Given the description of an element on the screen output the (x, y) to click on. 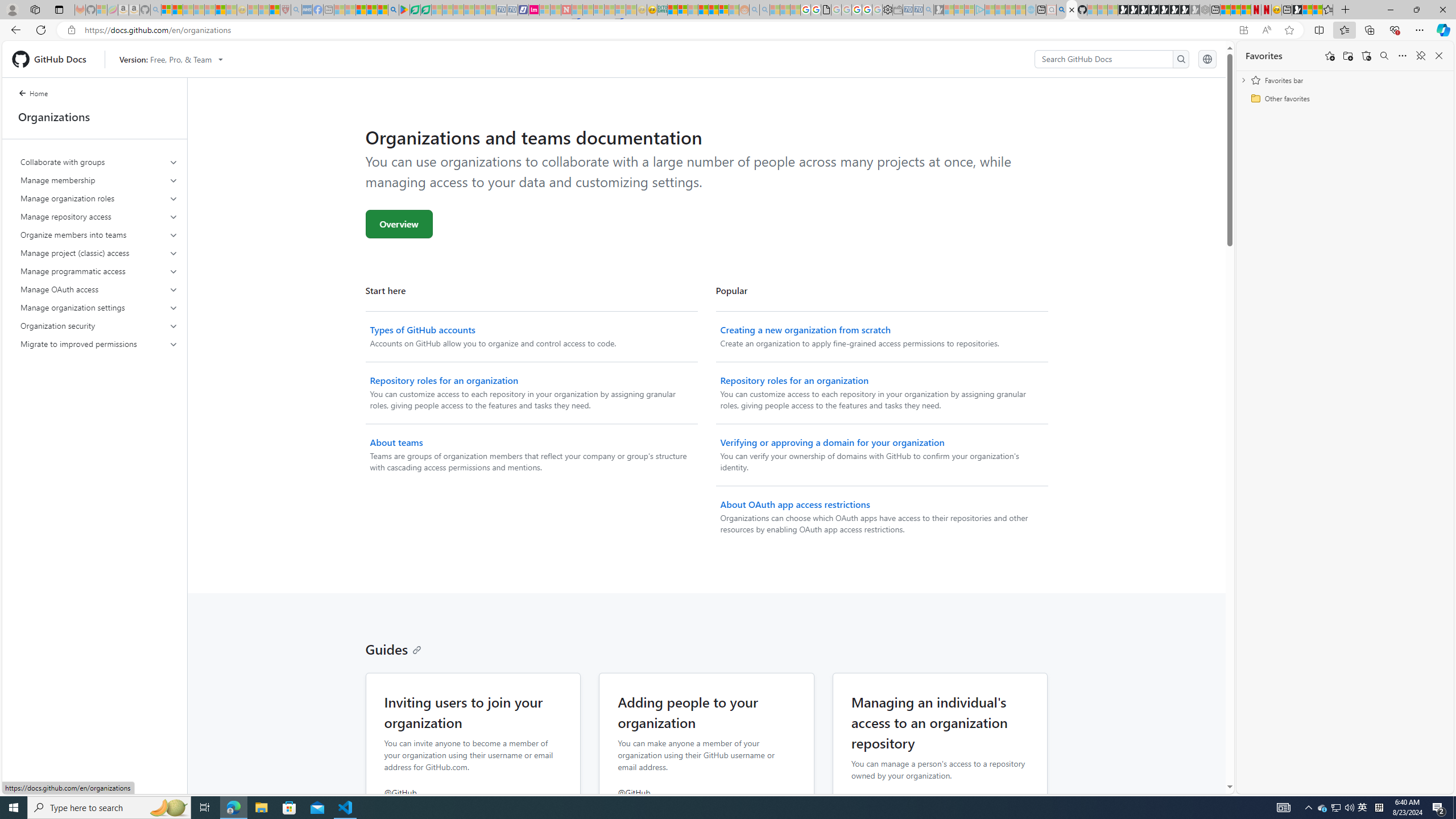
Close favorites (1439, 55)
Collaborate with groups (99, 162)
Manage organization roles (99, 198)
Collaborate with groups (99, 162)
Manage organization roles (99, 198)
Manage project (classic) access (99, 253)
Organize members into teams (99, 235)
Manage project (classic) access (99, 253)
